Given the description of an element on the screen output the (x, y) to click on. 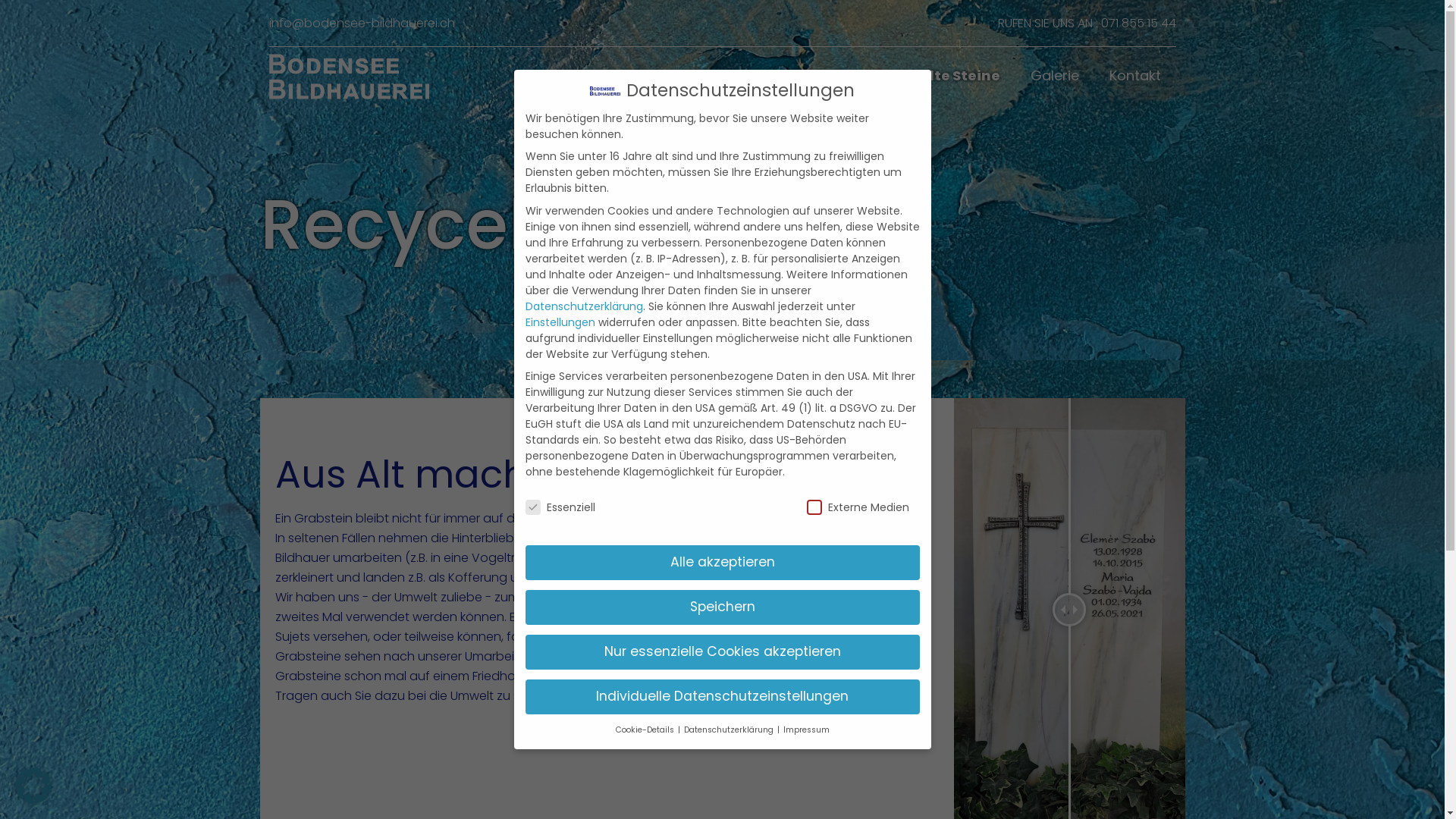
RUFEN SIE UNS AN : 071 855 15 44 Element type: text (1086, 22)
Speichern Element type: text (721, 606)
Individuelle Datenschutzeinstellungen Element type: text (721, 696)
Cookie-Details Element type: text (645, 729)
Bodensee Bildhauerei Element type: hover (348, 75)
Nur essenzielle Cookies akzeptieren Element type: text (721, 651)
Galerie Element type: text (1053, 75)
Recycelte Steine Element type: text (938, 75)
Einstellungen Element type: text (559, 321)
Grabsteine Element type: text (808, 75)
Impressum Element type: text (805, 729)
Kontakt Element type: text (1134, 75)
Alle akzeptieren Element type: text (721, 562)
Home Element type: text (719, 75)
